Given the description of an element on the screen output the (x, y) to click on. 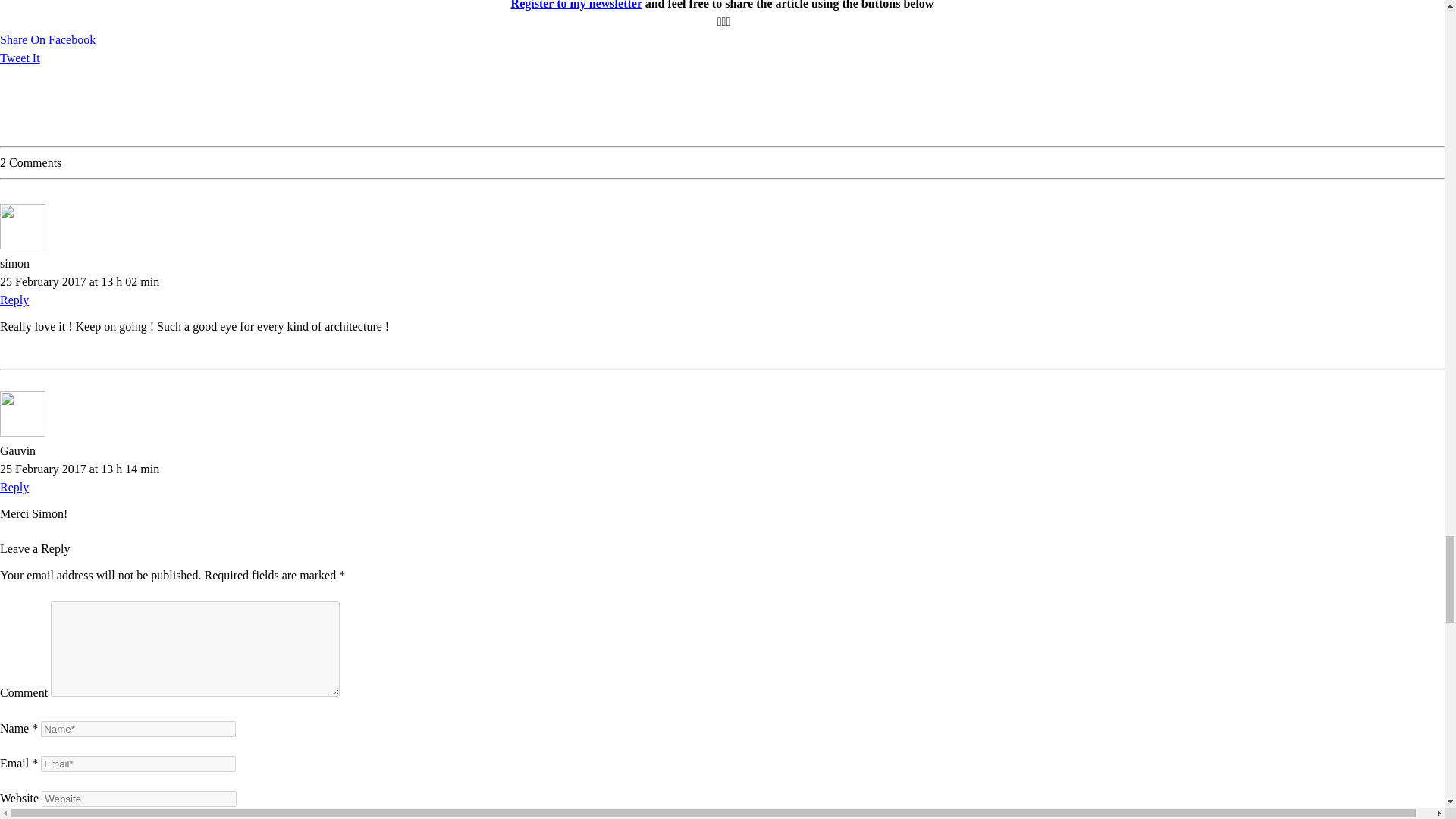
Share On Facebook (48, 39)
Share On Twitter (20, 57)
